Given the description of an element on the screen output the (x, y) to click on. 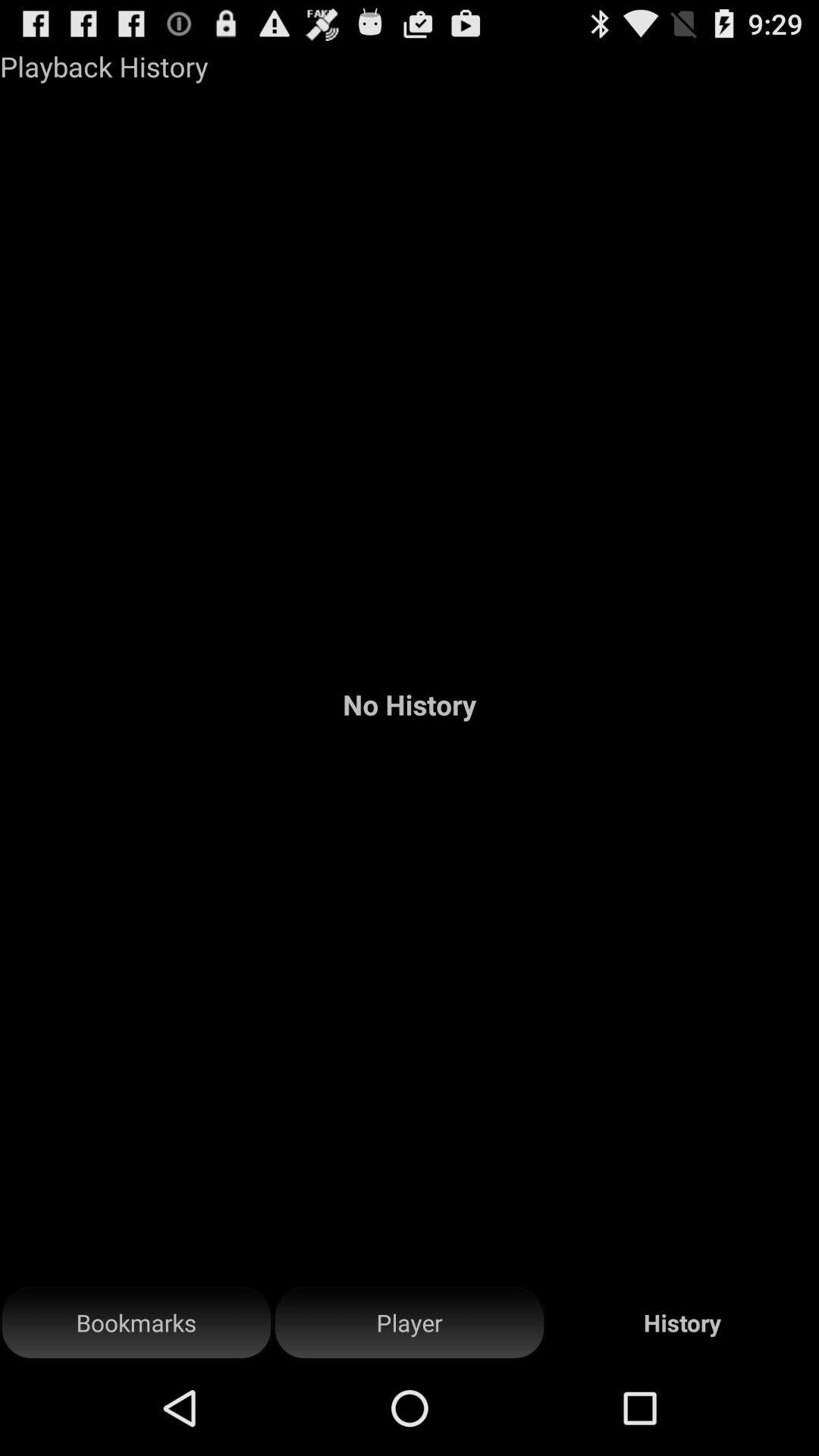
open the item to the left of history item (409, 1323)
